Given the description of an element on the screen output the (x, y) to click on. 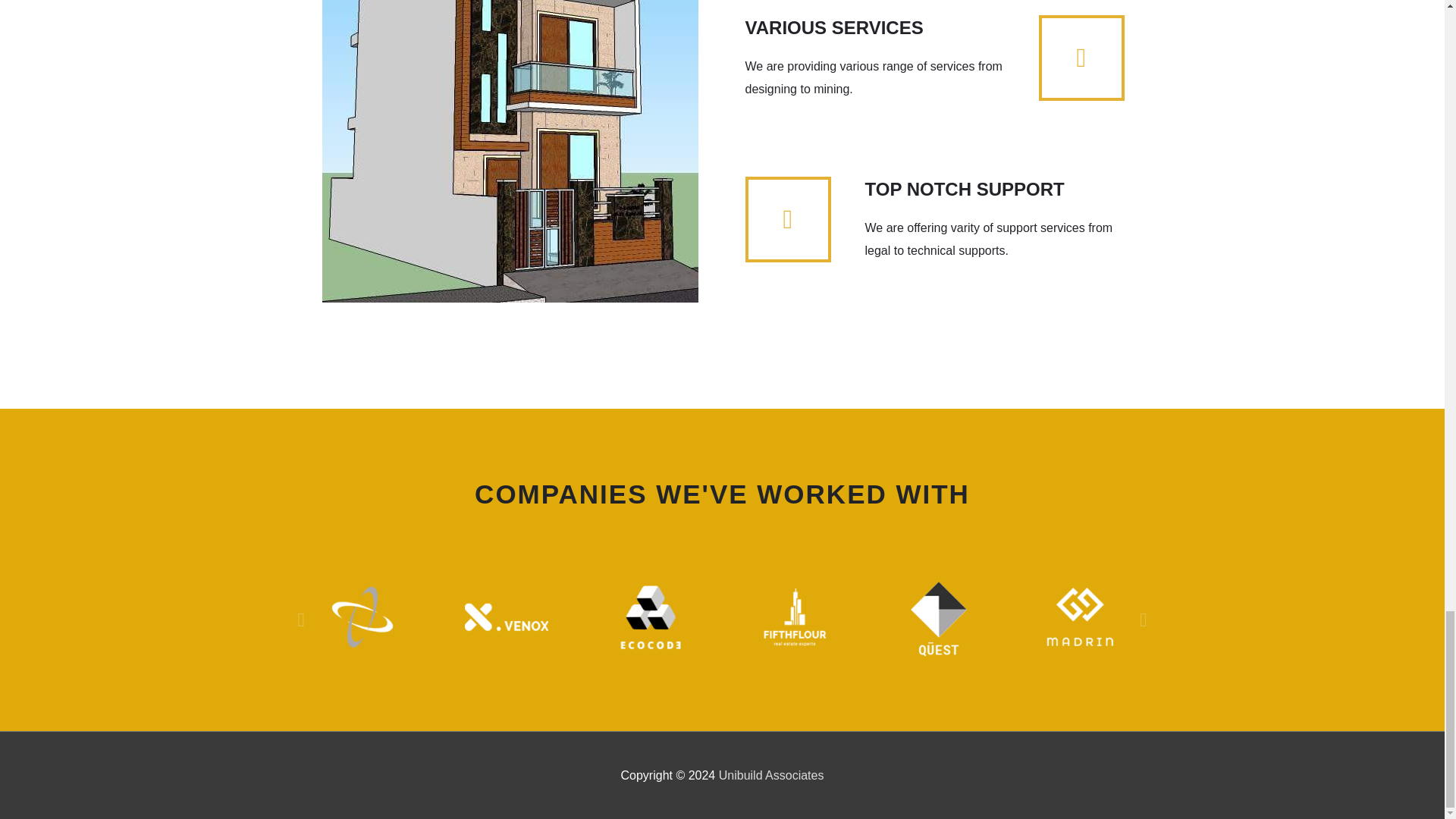
Unibuild Associates (771, 775)
